Given the description of an element on the screen output the (x, y) to click on. 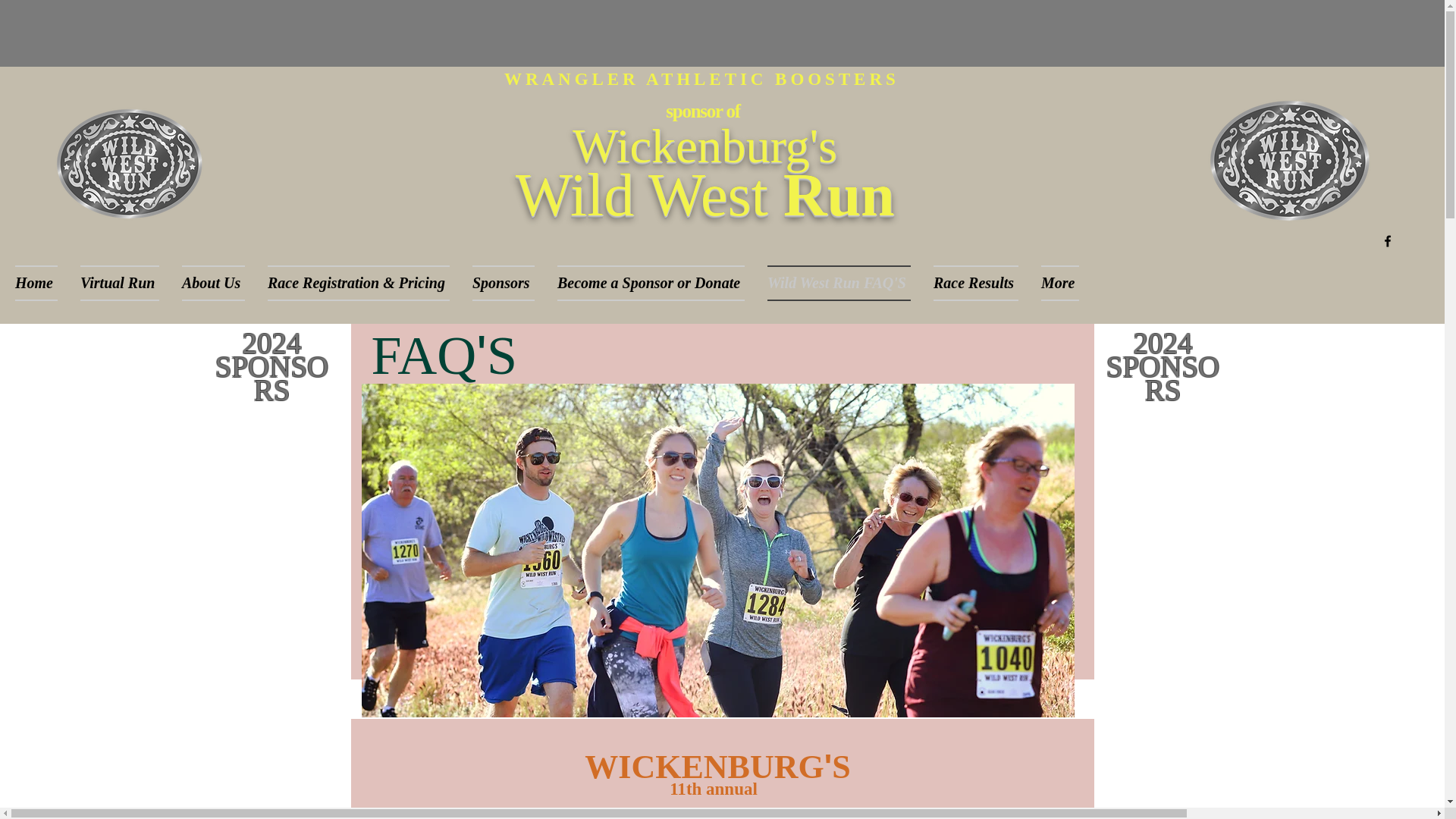
Become a Sponsor or Donate (650, 283)
Home (41, 283)
Wild West Run (704, 194)
Wickenburg (690, 145)
About Us (213, 283)
Sponsors (503, 283)
Wild West Run FAQ'S (838, 283)
WRANGLER ATHLETIC BOOSTERS (701, 78)
Race Results (975, 283)
Virtual Run (119, 283)
